Given the description of an element on the screen output the (x, y) to click on. 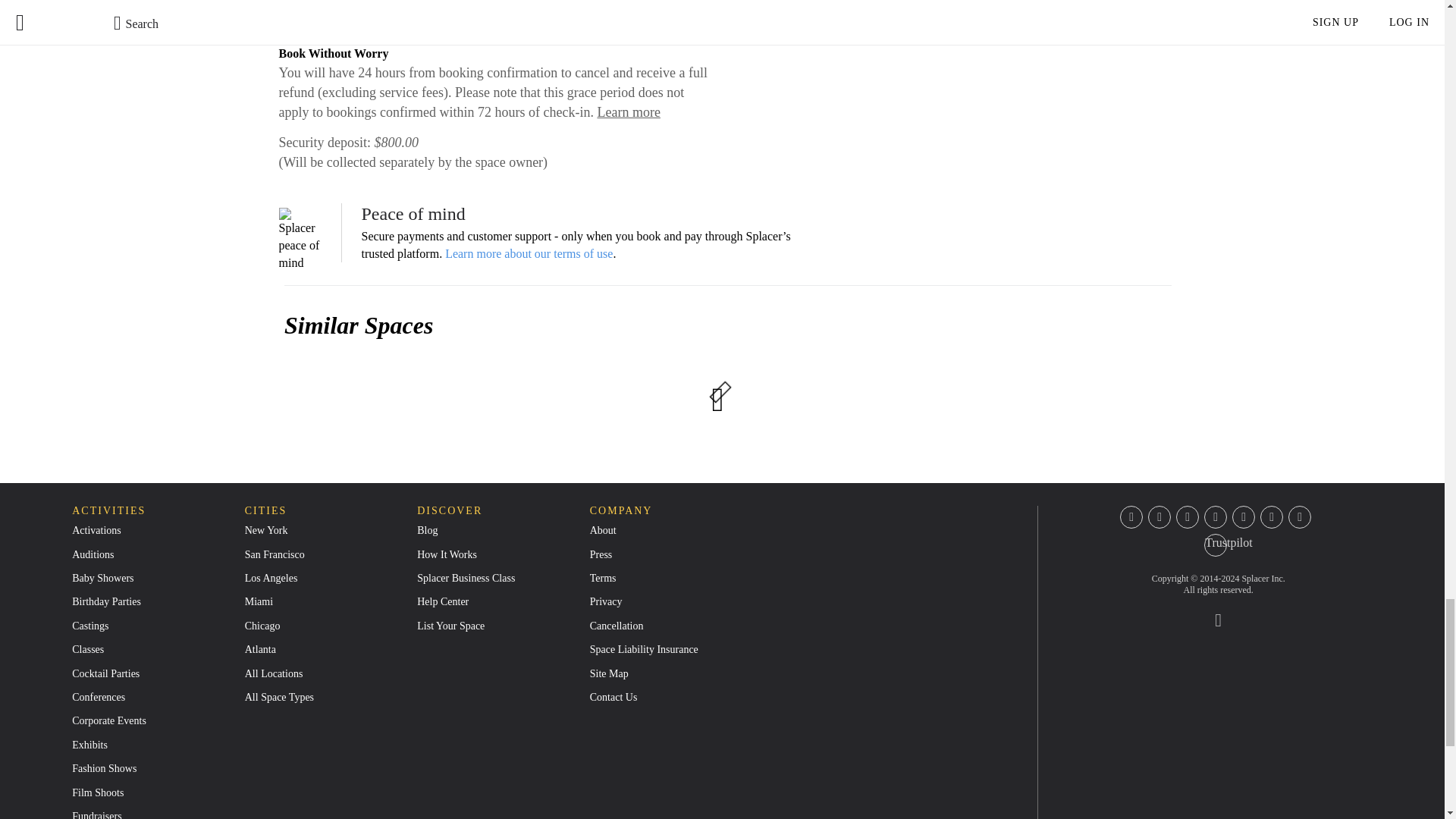
Conferences (98, 696)
Fundraisers (95, 814)
Corporate Events (109, 720)
Cancellation policy: (333, 5)
Classes (87, 649)
Baby Showers (102, 577)
Castings (89, 625)
Learn more (627, 111)
Activations (95, 530)
Auditions (92, 554)
